Given the description of an element on the screen output the (x, y) to click on. 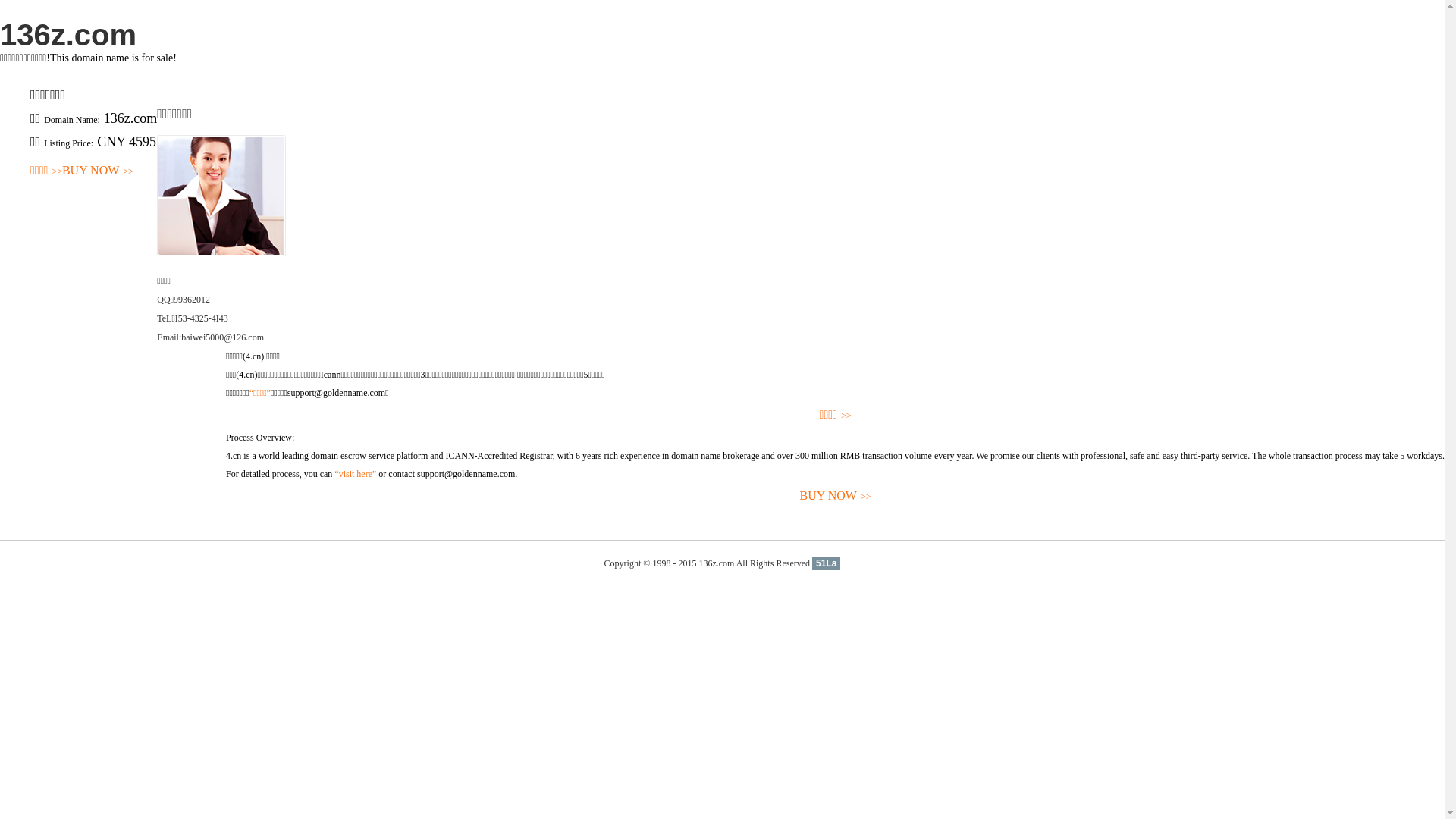
51La Element type: text (826, 563)
BUY NOW>> Element type: text (834, 496)
BUY NOW>> Element type: text (97, 170)
